Given the description of an element on the screen output the (x, y) to click on. 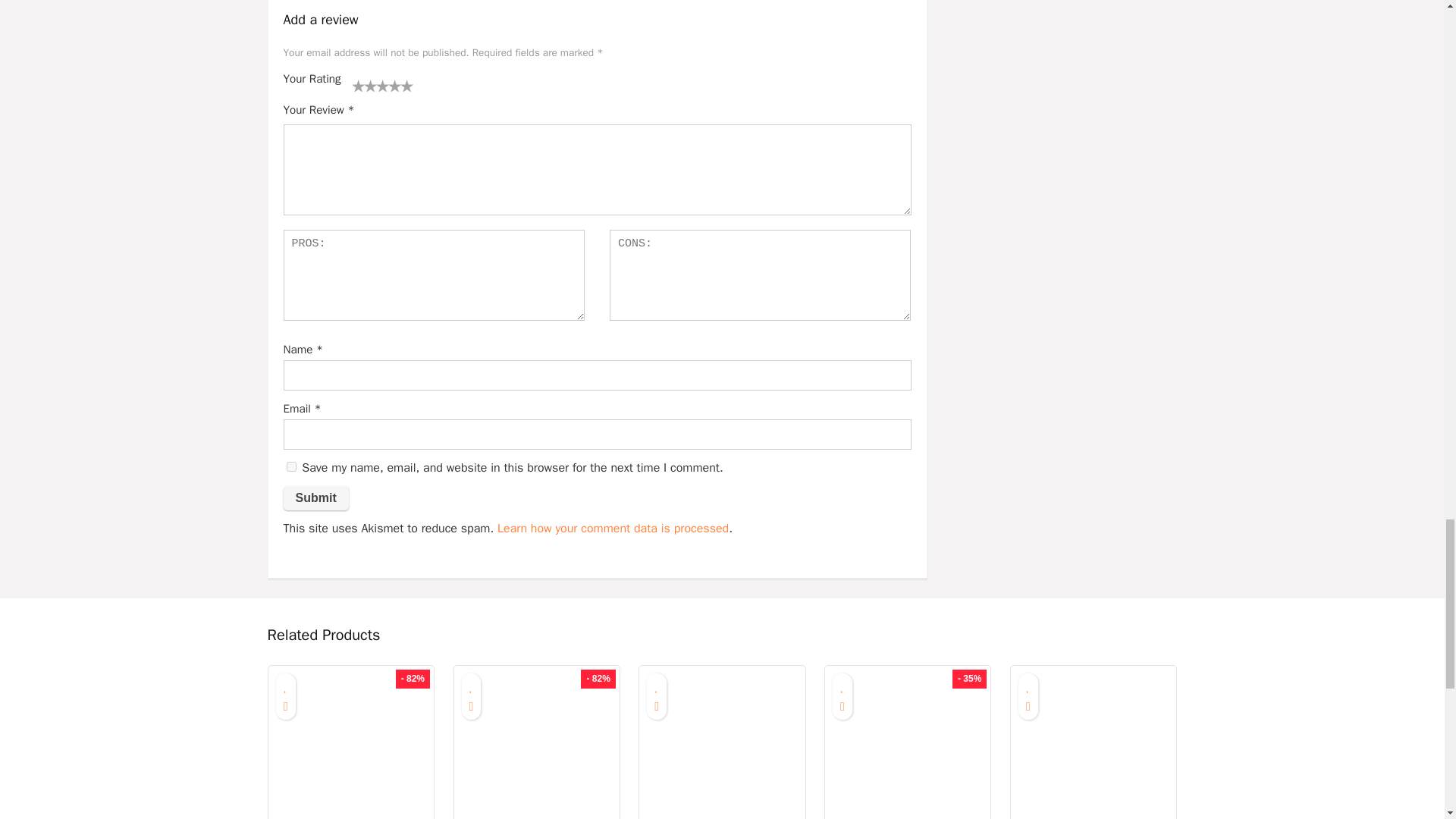
1 (358, 85)
2 (364, 85)
yes (291, 466)
Submit (316, 498)
